Given the description of an element on the screen output the (x, y) to click on. 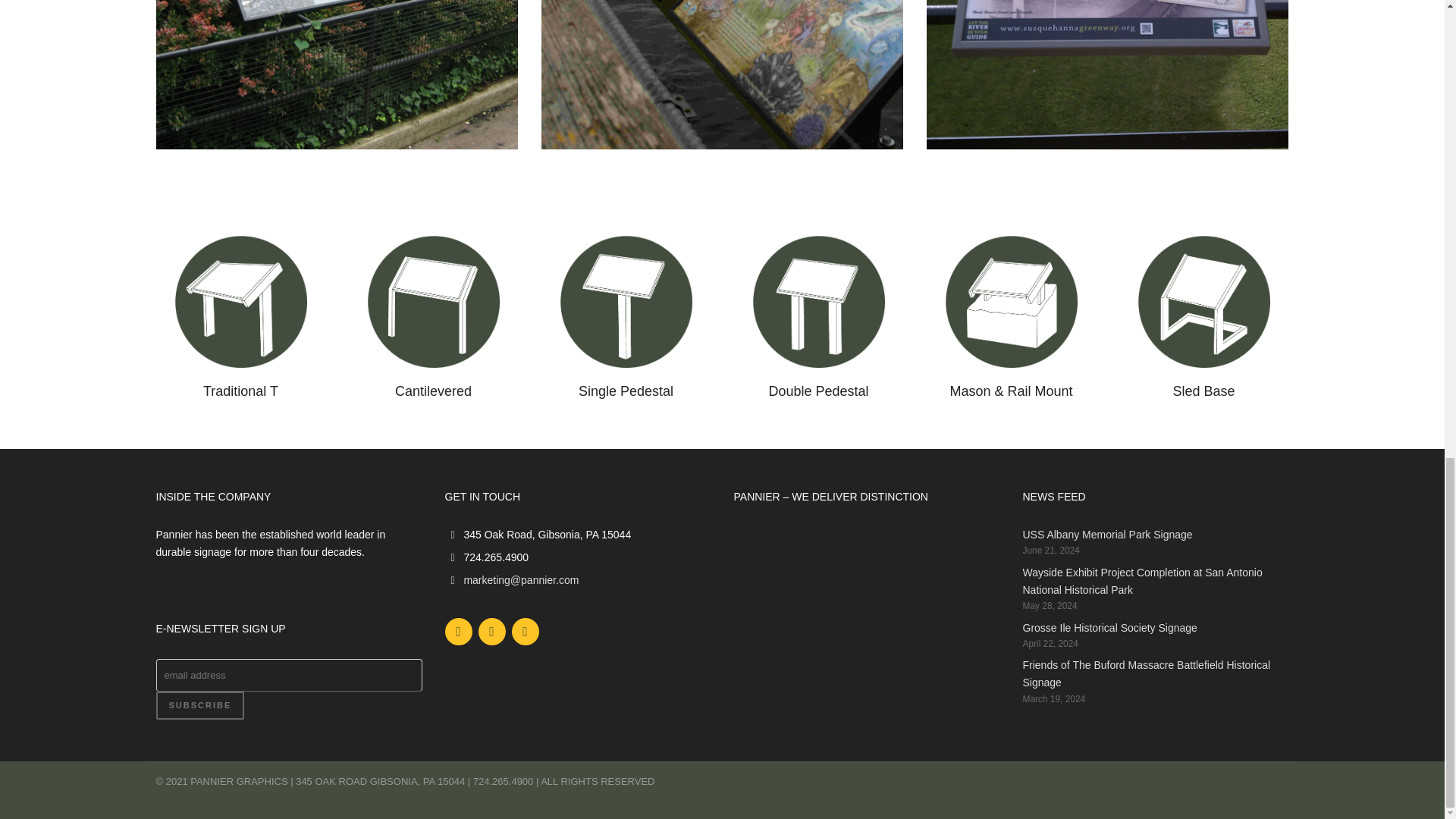
Subscribe (199, 705)
